Given the description of an element on the screen output the (x, y) to click on. 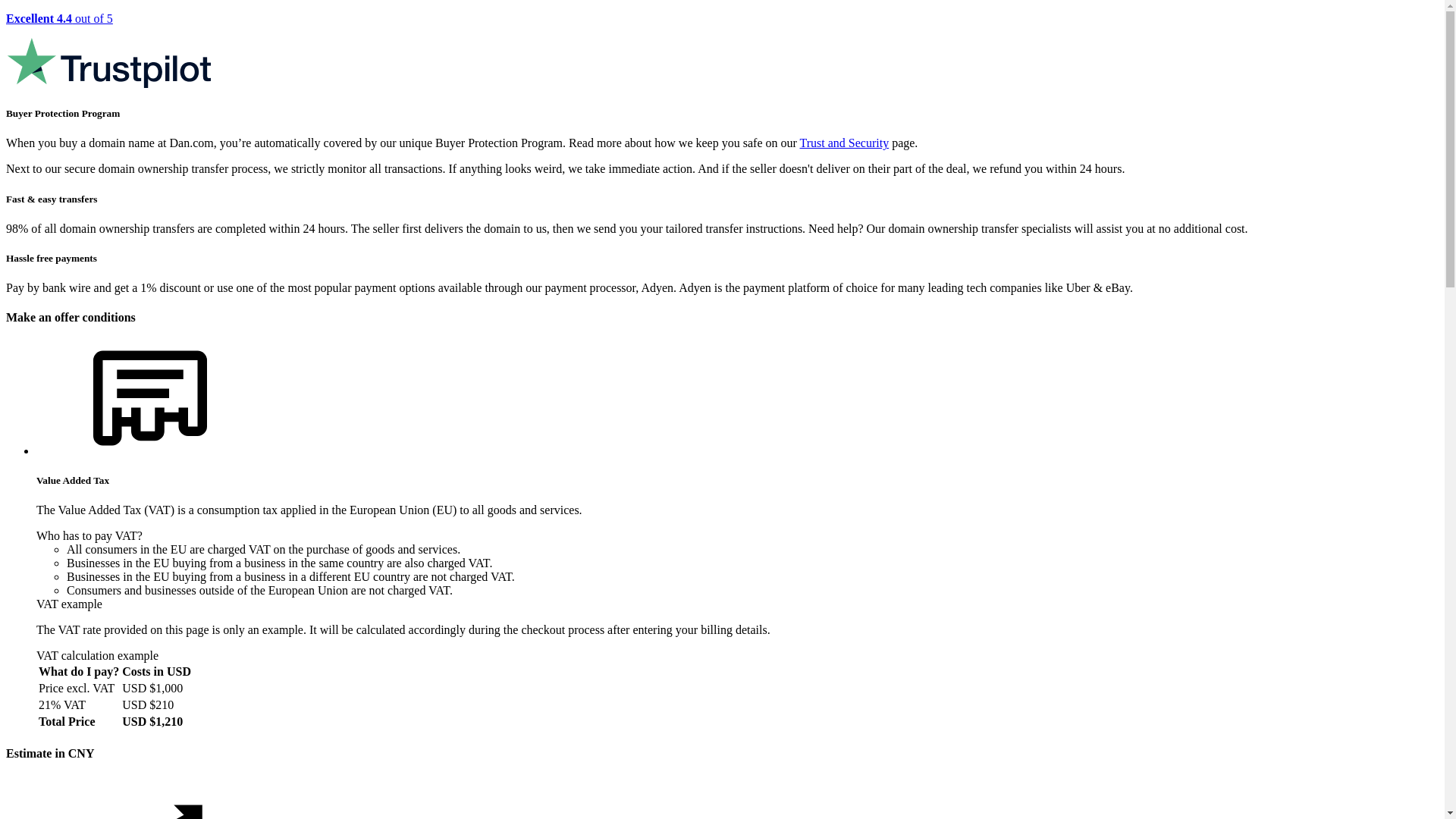
Excellent 4.4 out of 5 Element type: text (722, 51)
Trust and Security Element type: text (844, 142)
